Given the description of an element on the screen output the (x, y) to click on. 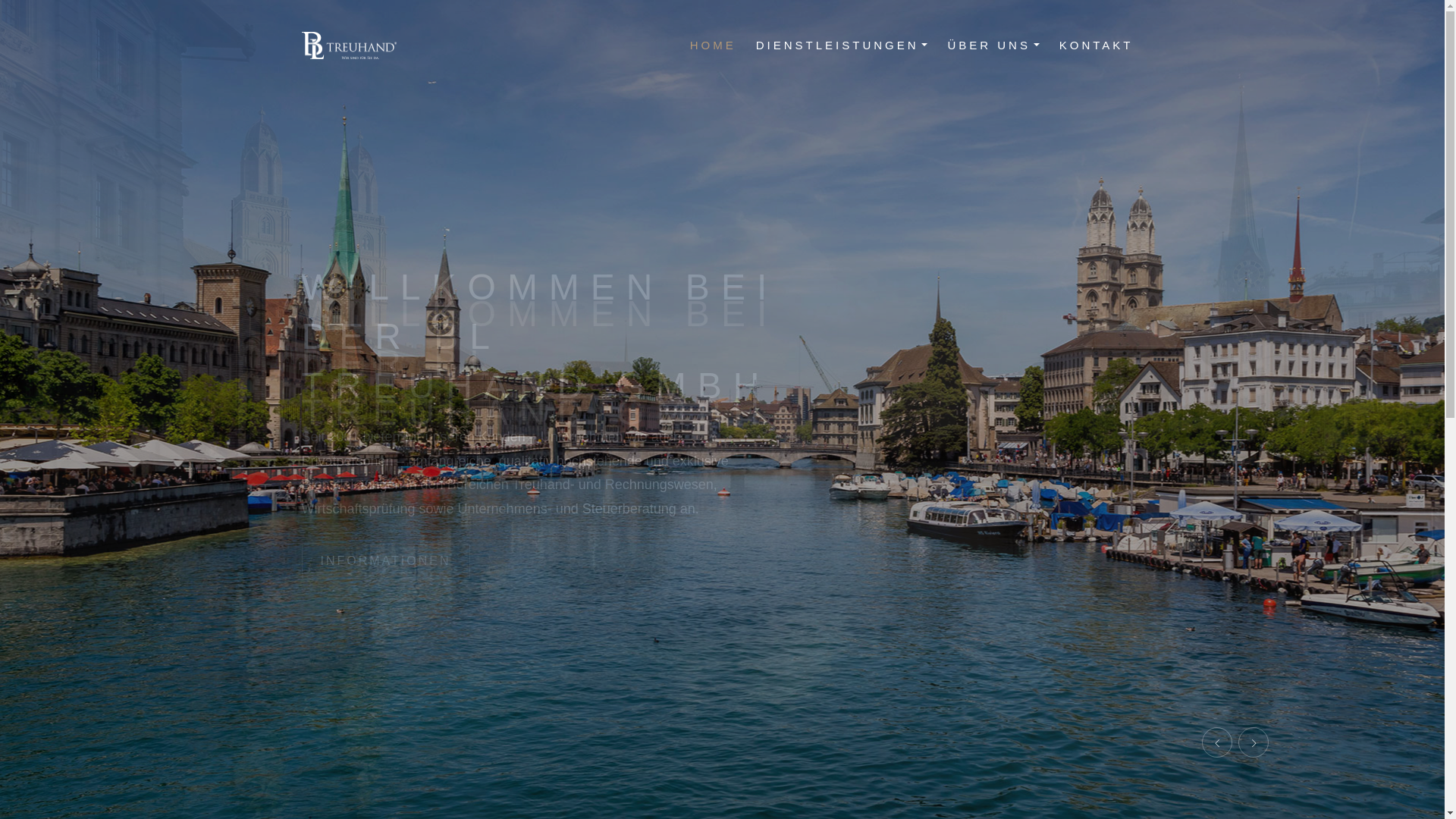
INFORMATIONEN Element type: text (385, 561)
KONTAKT Element type: text (1096, 45)
HOME Element type: text (713, 45)
